Given the description of an element on the screen output the (x, y) to click on. 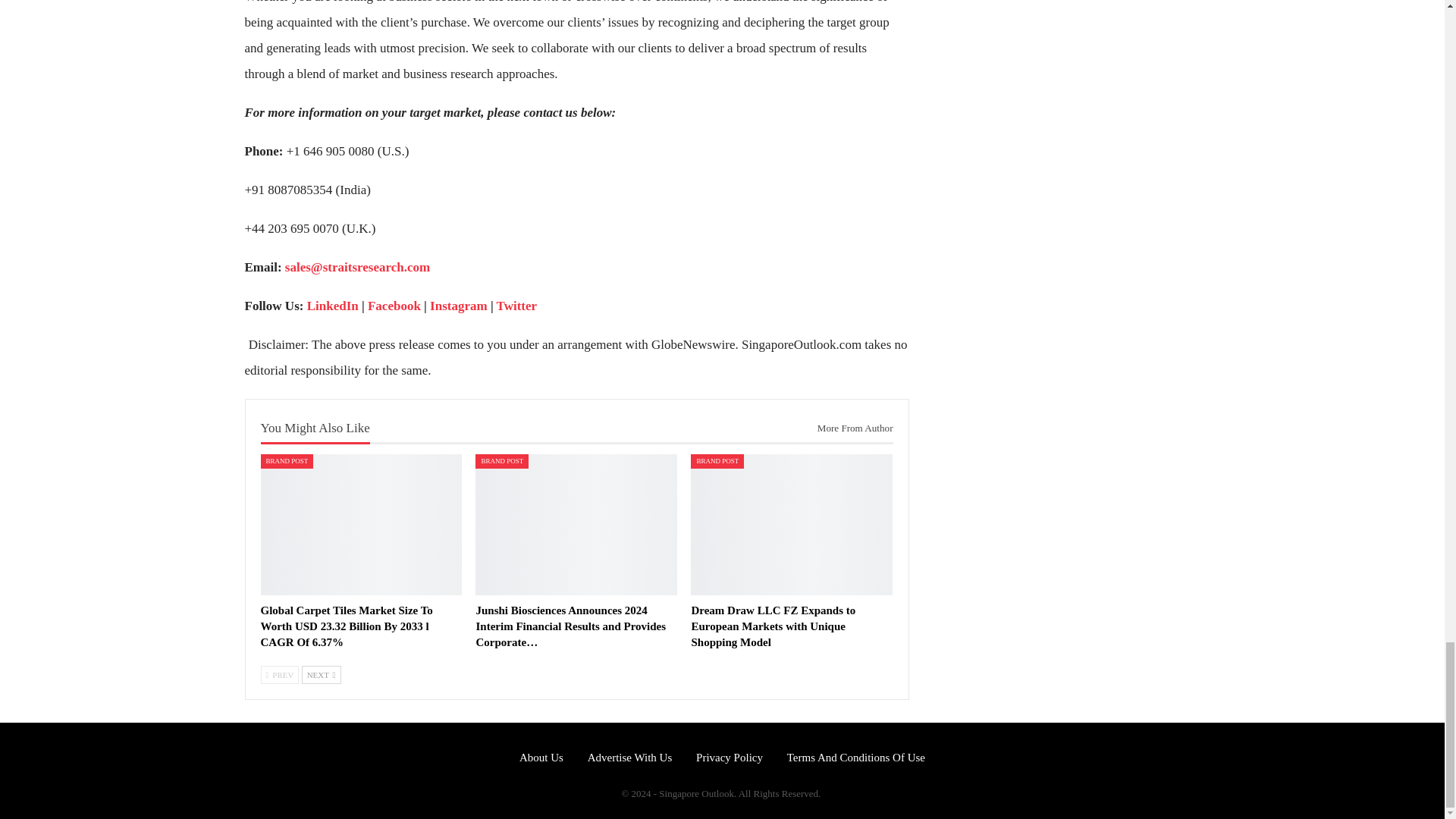
You Might Also Like (314, 427)
Twitter (516, 305)
Facebook (394, 305)
BRAND POST (502, 461)
More From Author (849, 428)
LinkedIn (332, 305)
Instagram (458, 305)
BRAND POST (287, 461)
